Given the description of an element on the screen output the (x, y) to click on. 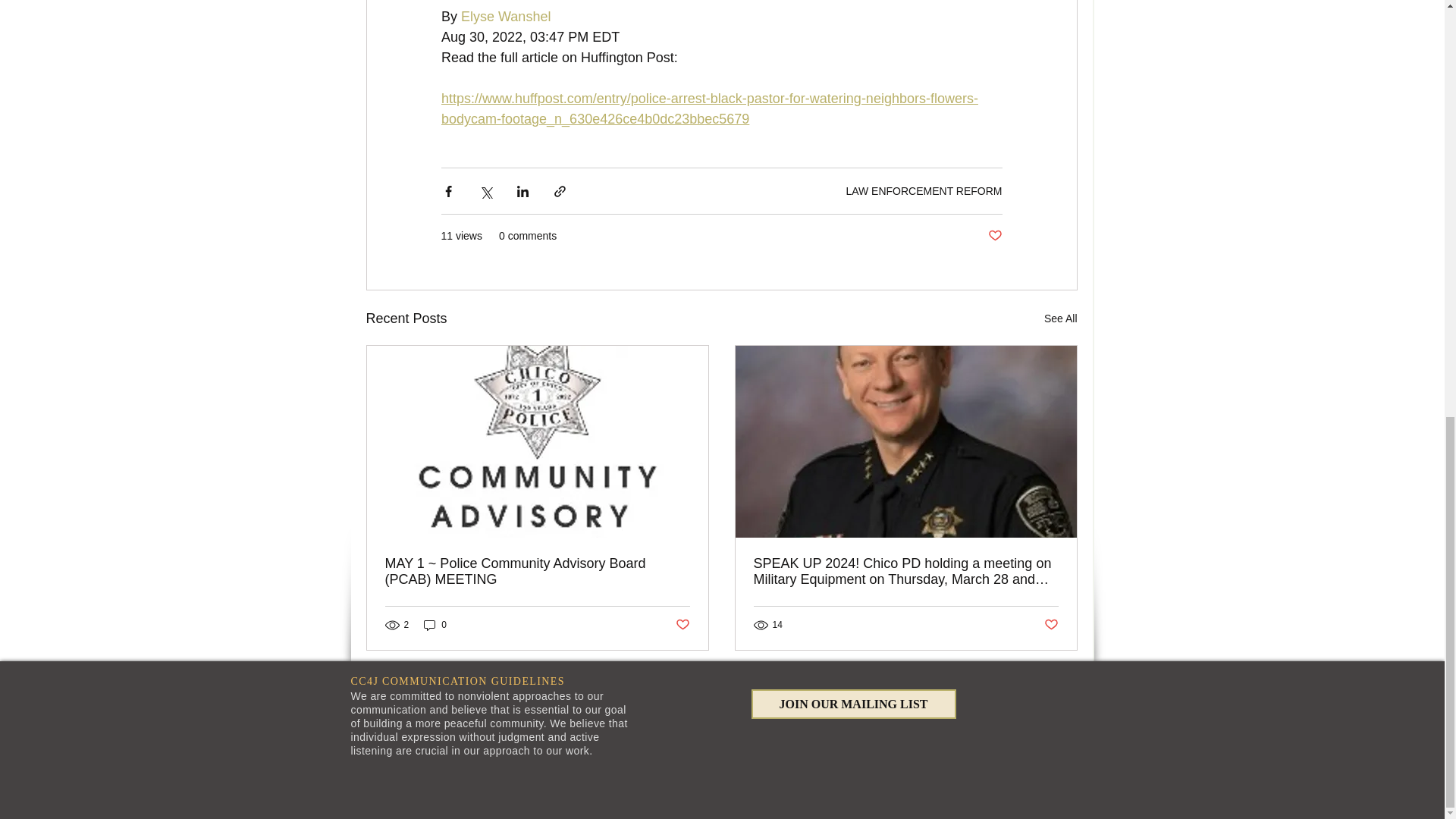
Elyse Wanshel (505, 16)
